Given the description of an element on the screen output the (x, y) to click on. 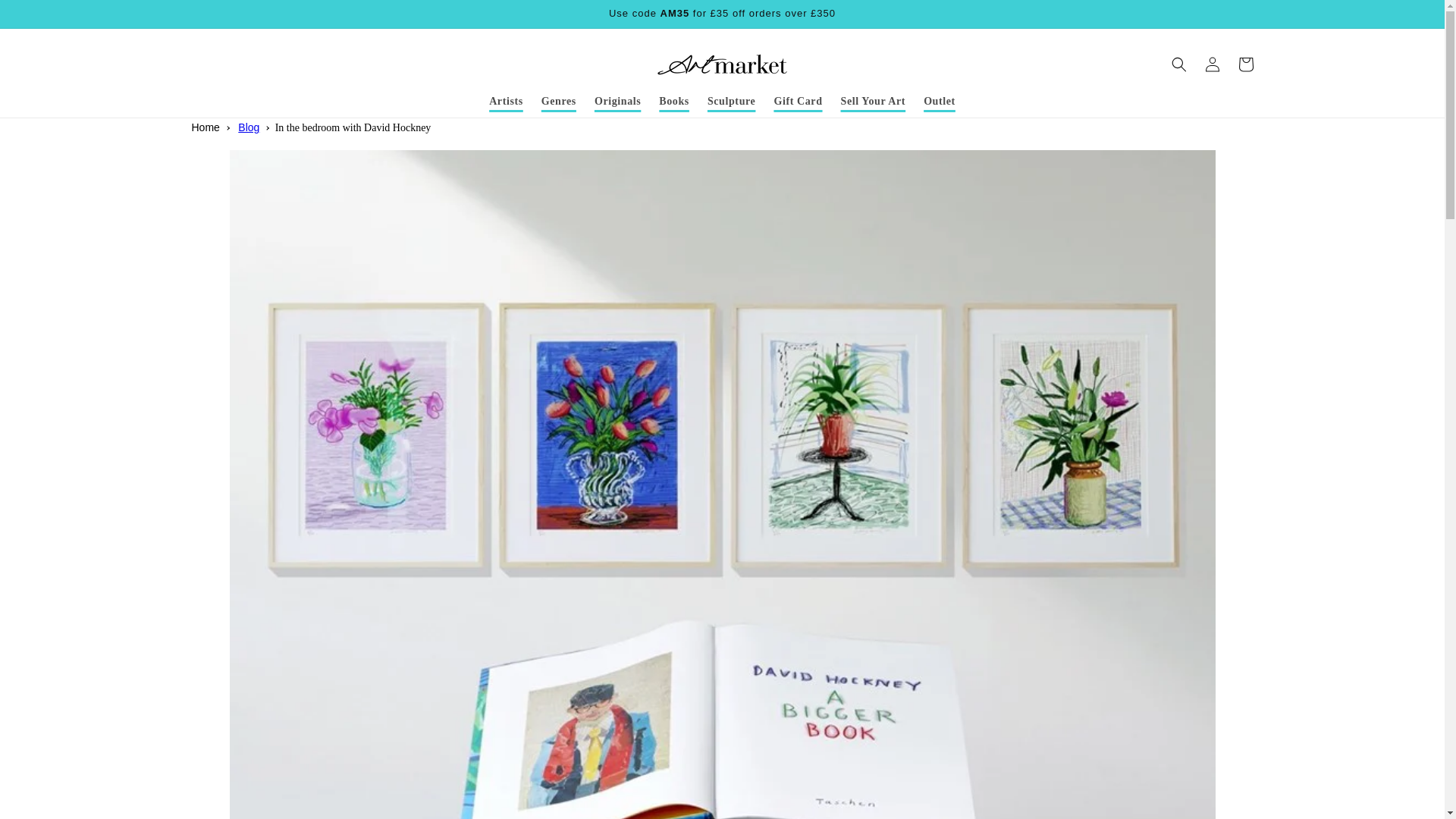
Cart (1245, 64)
Sculpture (731, 101)
Sell Your Art (873, 101)
Gift Card (797, 101)
Genres (558, 101)
Outlet (938, 101)
Artists (506, 101)
Skip to content (45, 17)
Blog (248, 127)
Originals (617, 101)
Log in (1211, 64)
Home (204, 127)
In the bedroom with David Hockney (352, 127)
Books (673, 101)
